Given the description of an element on the screen output the (x, y) to click on. 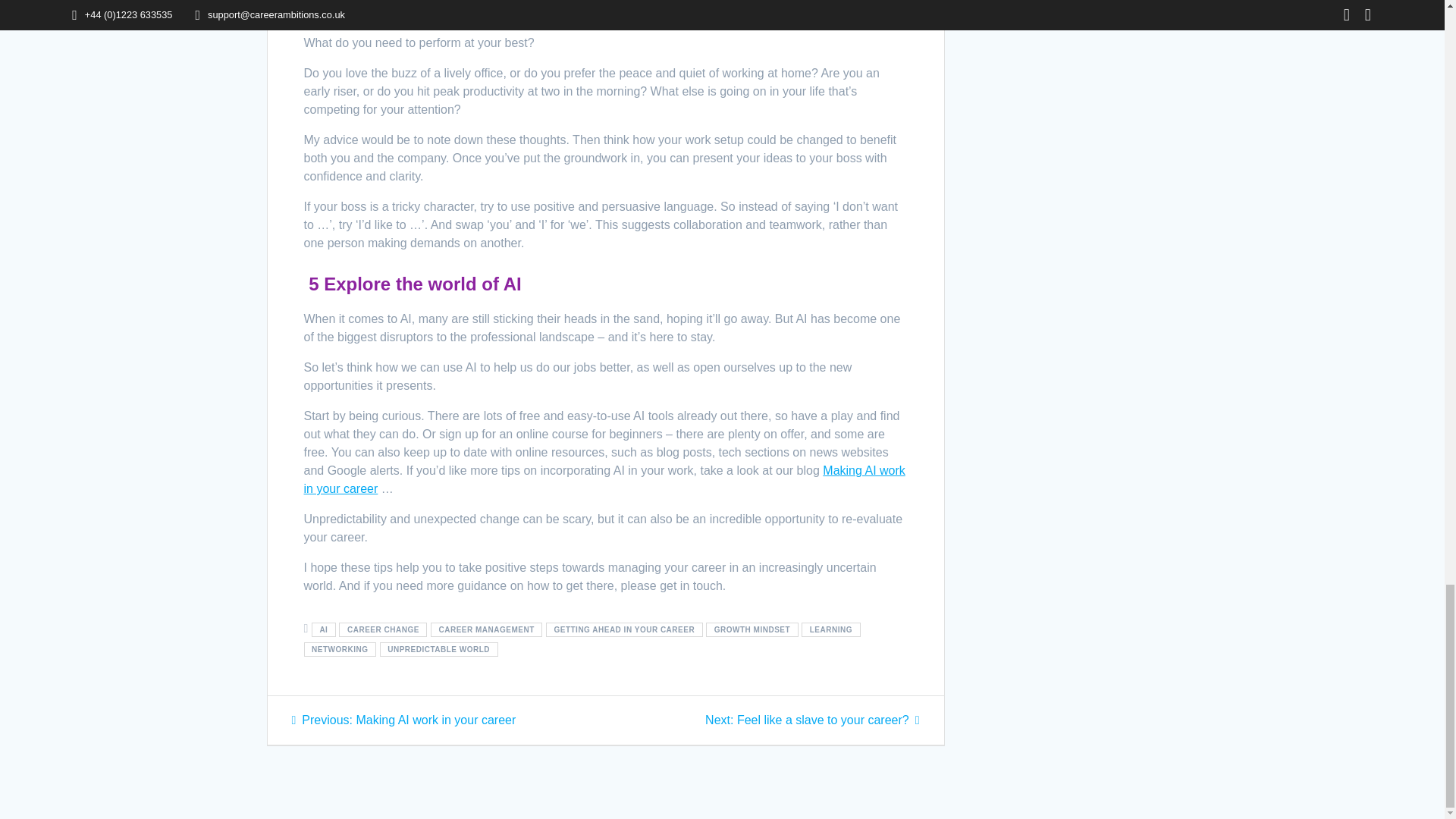
king AI work in your career (603, 479)
AI (323, 629)
Ma (831, 470)
